Given the description of an element on the screen output the (x, y) to click on. 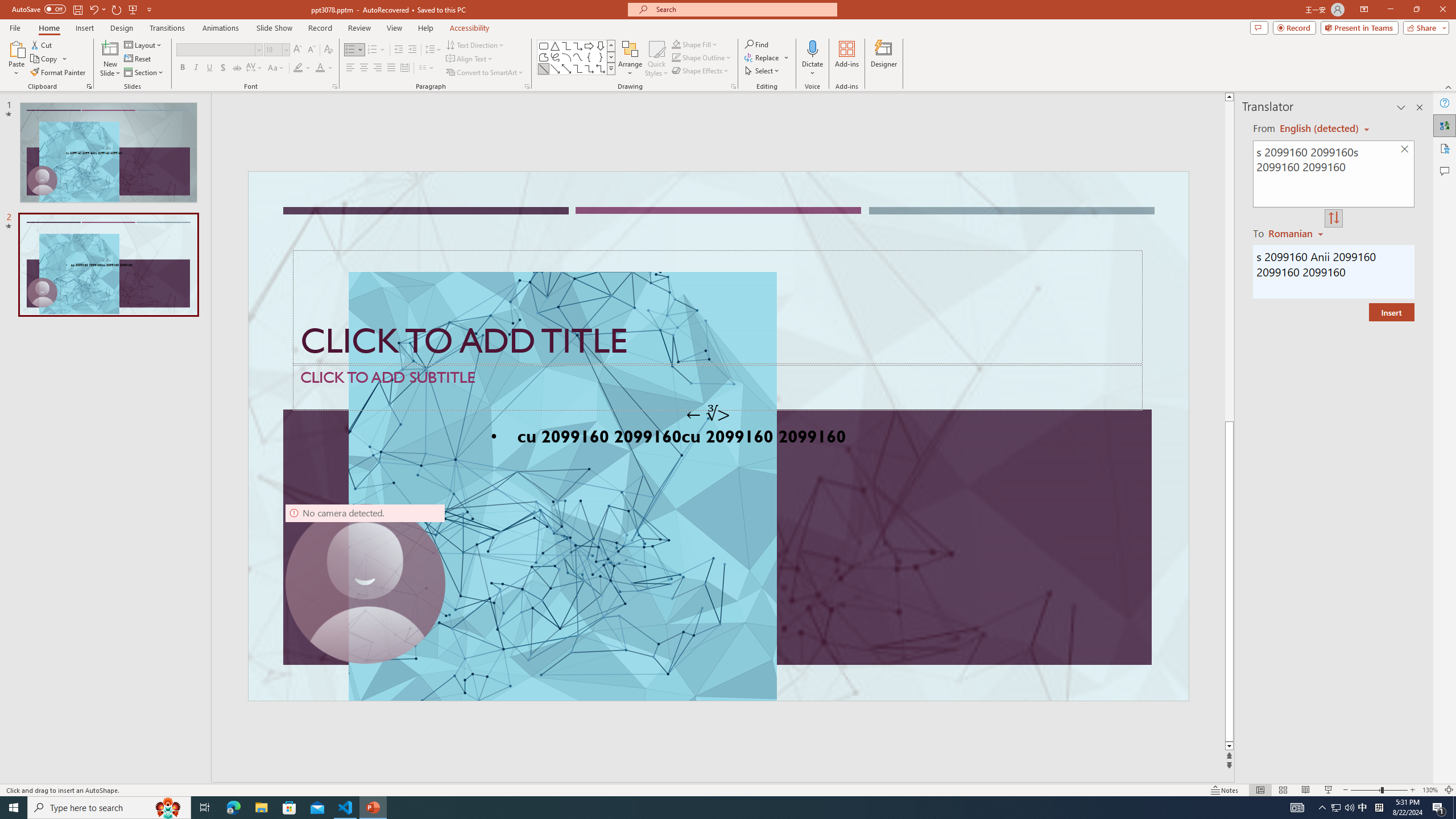
Zoom 130% (1430, 790)
Connector: Elbow Double-Arrow (600, 68)
